Given the description of an element on the screen output the (x, y) to click on. 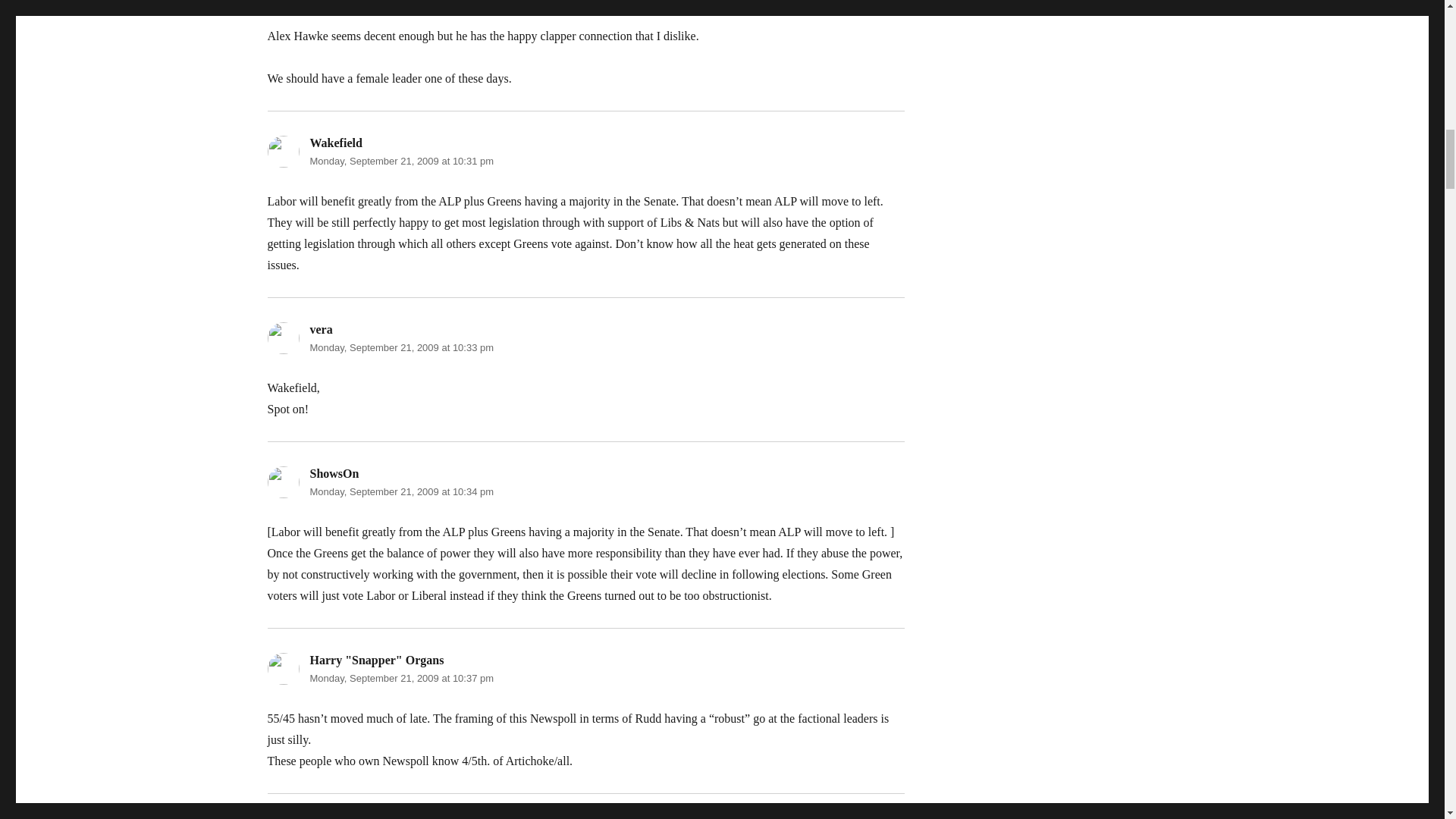
Monday, September 21, 2009 at 10:31 pm (400, 161)
Monday, September 21, 2009 at 10:33 pm (400, 347)
Monday, September 21, 2009 at 10:34 pm (400, 491)
Monday, September 21, 2009 at 10:37 pm (400, 677)
